Given the description of an element on the screen output the (x, y) to click on. 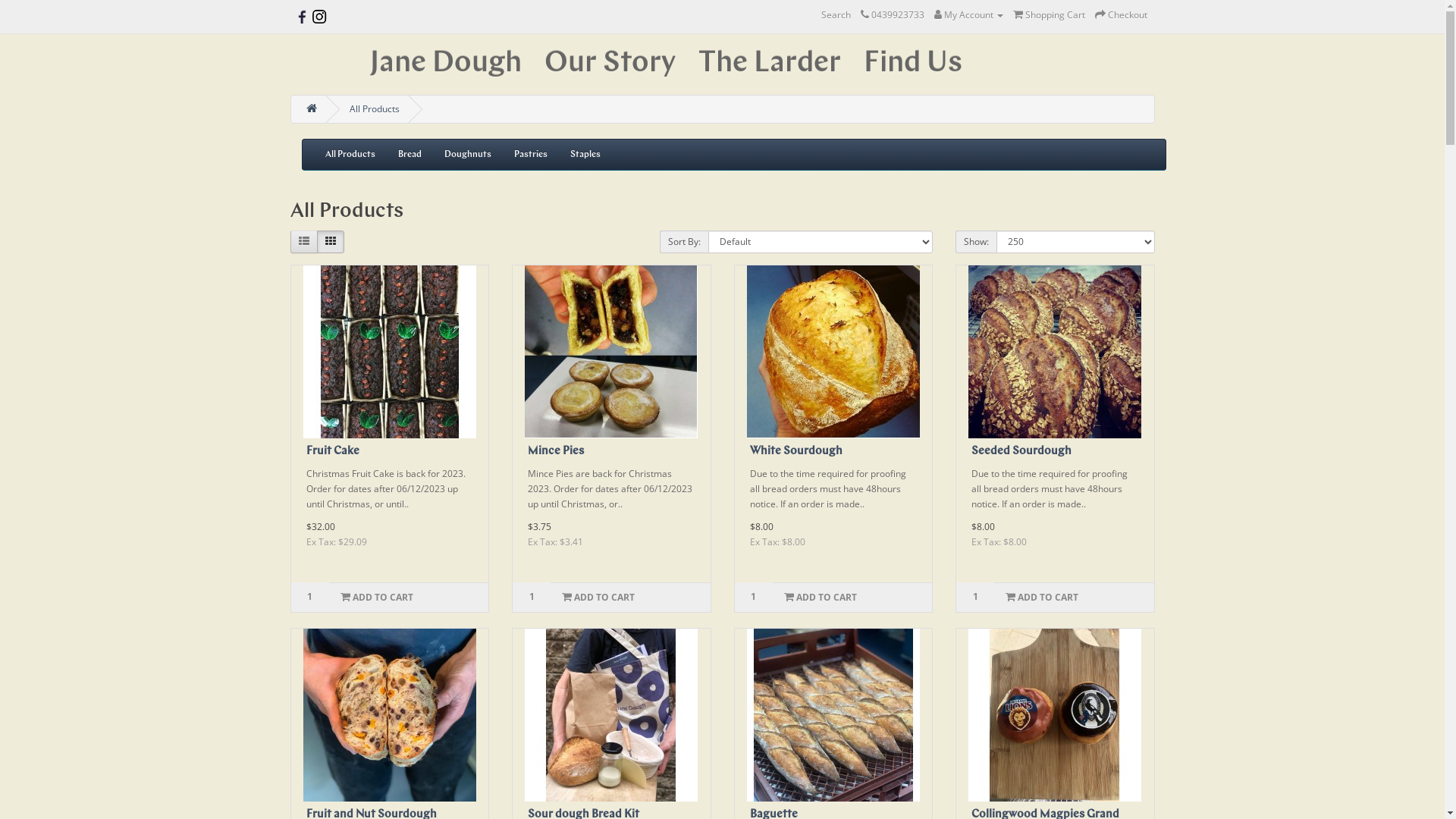
Jane Dough Element type: text (444, 64)
Find Us Element type: text (912, 64)
Sour dough Bread Kit Element type: hover (610, 714)
Mince Pies Element type: hover (610, 351)
Baguette Element type: hover (832, 714)
Checkout Element type: text (1121, 14)
Mince Pies Element type: text (555, 451)
Doughnuts Element type: text (467, 154)
Collingwood Magpies Grand Final Doughnut Element type: hover (1054, 714)
Fruit Cake Element type: text (332, 451)
Bread Element type: text (409, 154)
Fruit and Nut Sourdough Element type: hover (389, 714)
My Account Element type: text (968, 14)
Seeded Sourdough Element type: text (1021, 451)
All Products Element type: text (349, 154)
ADD TO CART Element type: text (598, 597)
The Larder Element type: text (769, 64)
Search Element type: text (835, 14)
Staples Element type: text (584, 154)
All Products Element type: text (373, 108)
ADD TO CART Element type: text (1041, 597)
Fruit Cake Element type: hover (389, 351)
Seeded Sourdough Element type: hover (1054, 351)
ADD TO CART Element type: text (819, 597)
Pastries Element type: text (530, 154)
Shopping Cart Element type: text (1049, 14)
White Sourdough Element type: hover (832, 351)
ADD TO CART Element type: text (376, 597)
Our Story Element type: text (609, 64)
White Sourdough Element type: text (795, 451)
